Given the description of an element on the screen output the (x, y) to click on. 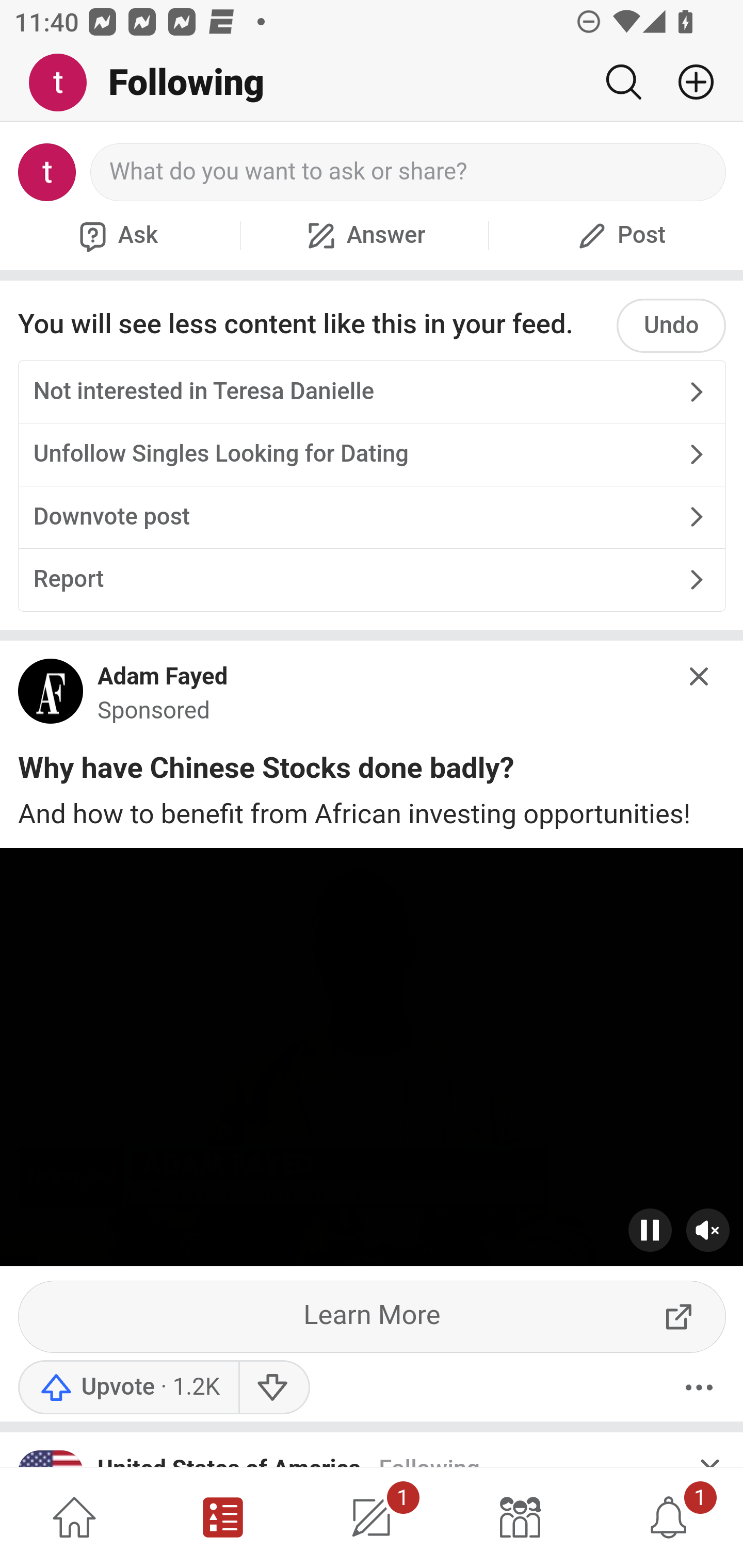
Me (64, 83)
Search (623, 82)
Add (688, 82)
What do you want to ask or share? (408, 172)
Ask (116, 234)
Answer (364, 234)
Post (618, 234)
Undo (671, 324)
Not interested in Teresa Danielle (371, 391)
Unfollow Singles Looking for Dating (371, 454)
Downvote post (371, 516)
Report (371, 578)
Hide (699, 676)
main-qimg-9229f9829955c59ec9f04a2e40d98b2b (50, 694)
Adam Fayed (162, 676)
Sponsored (154, 710)
Why have Chinese Stocks done badly? (265, 771)
Pause (650, 1230)
VolumeMuted (708, 1230)
Learn More ExternalLink (372, 1317)
Upvote (127, 1387)
Downvote (273, 1387)
More (699, 1387)
1 (371, 1517)
1 (668, 1517)
